Given the description of an element on the screen output the (x, y) to click on. 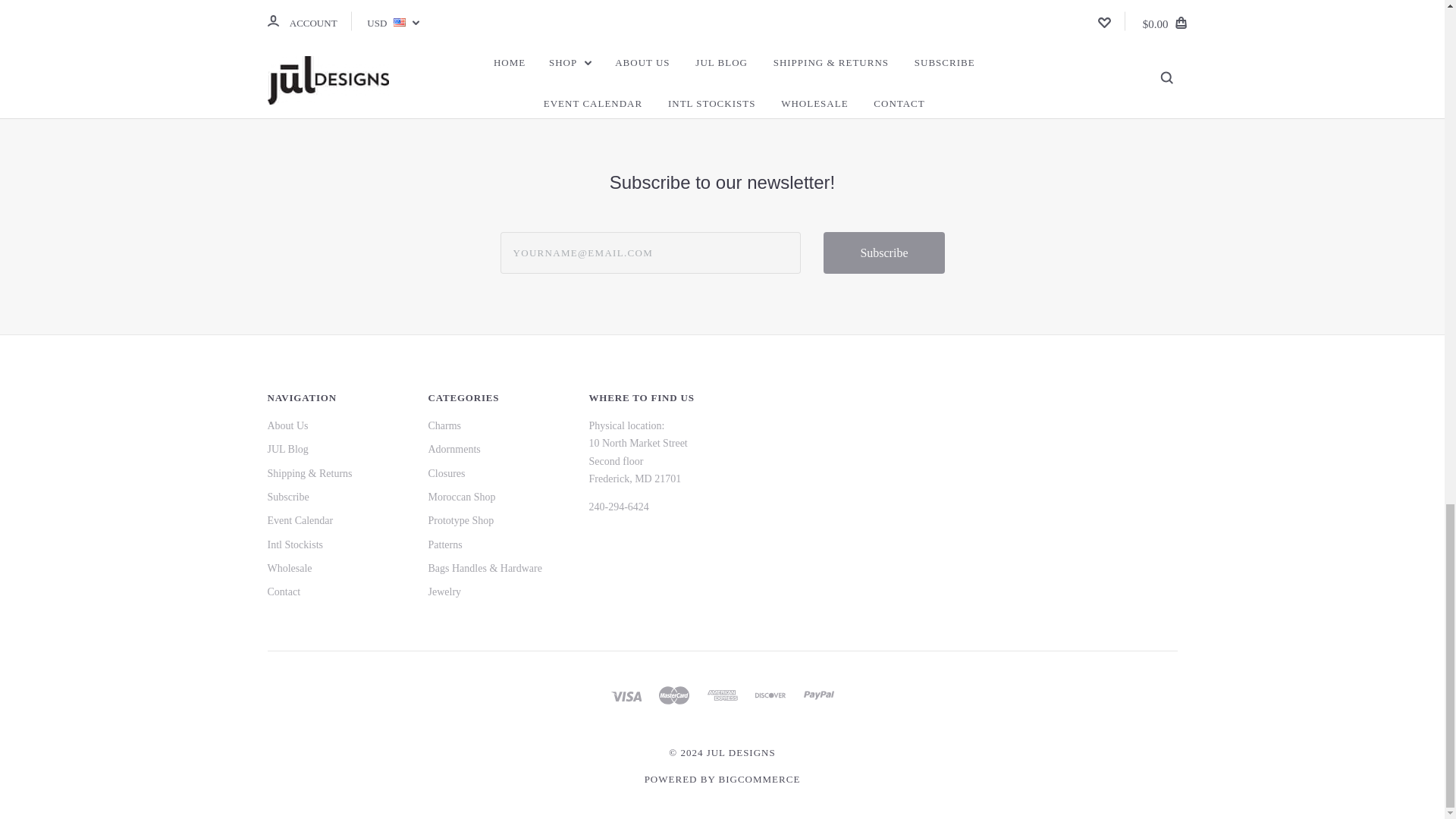
Subscribe (883, 252)
